Given the description of an element on the screen output the (x, y) to click on. 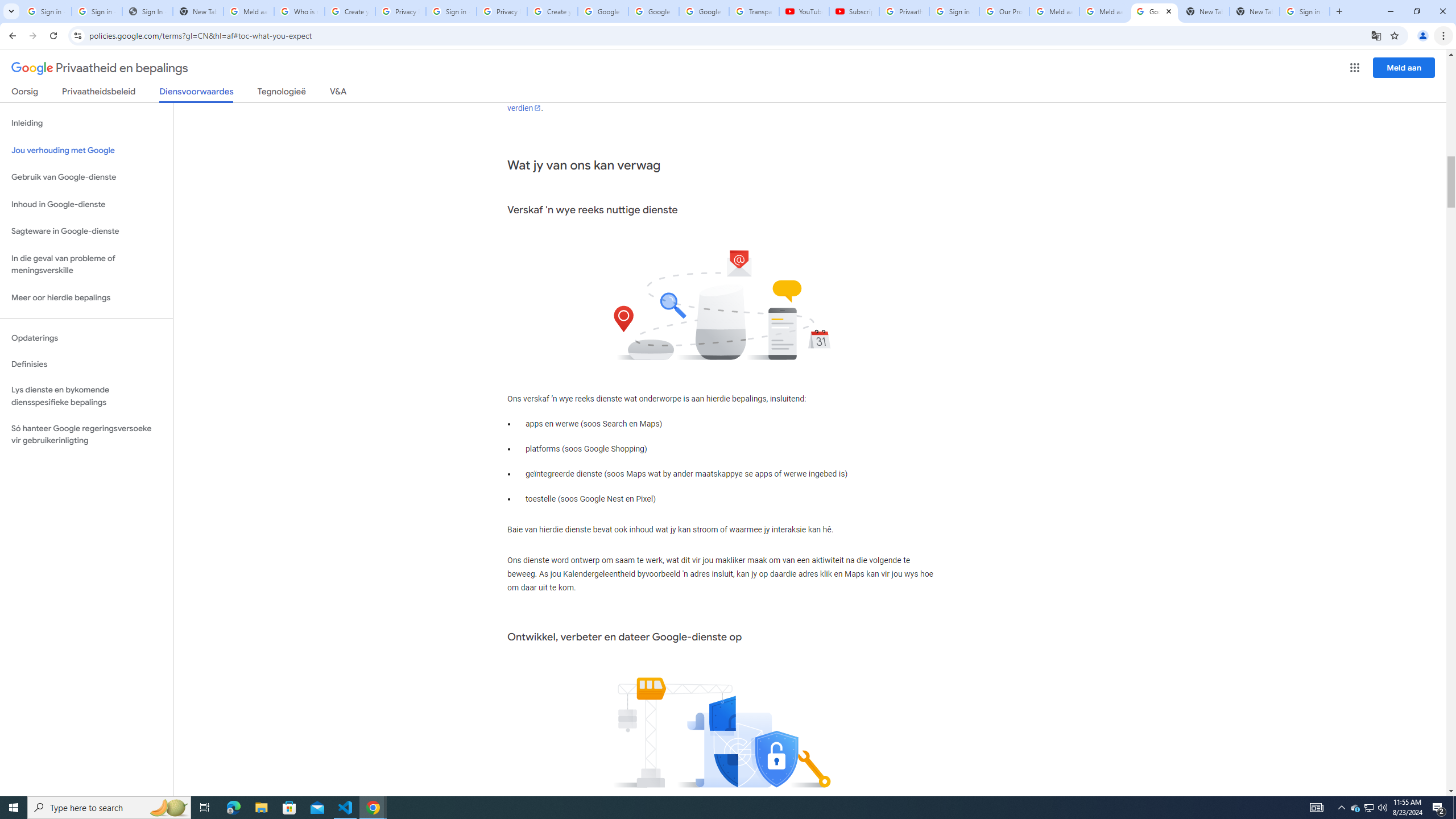
geaffilieerdes (635, 80)
Sign in - Google Accounts (97, 11)
Jou verhouding met Google (86, 150)
Sign in - Google Accounts (954, 11)
Meer oor hierdie bepalings (86, 298)
V&A (337, 93)
hoe Google se besigheid werk en hoe ons geld verdien (718, 101)
YouTube (804, 11)
